Given the description of an element on the screen output the (x, y) to click on. 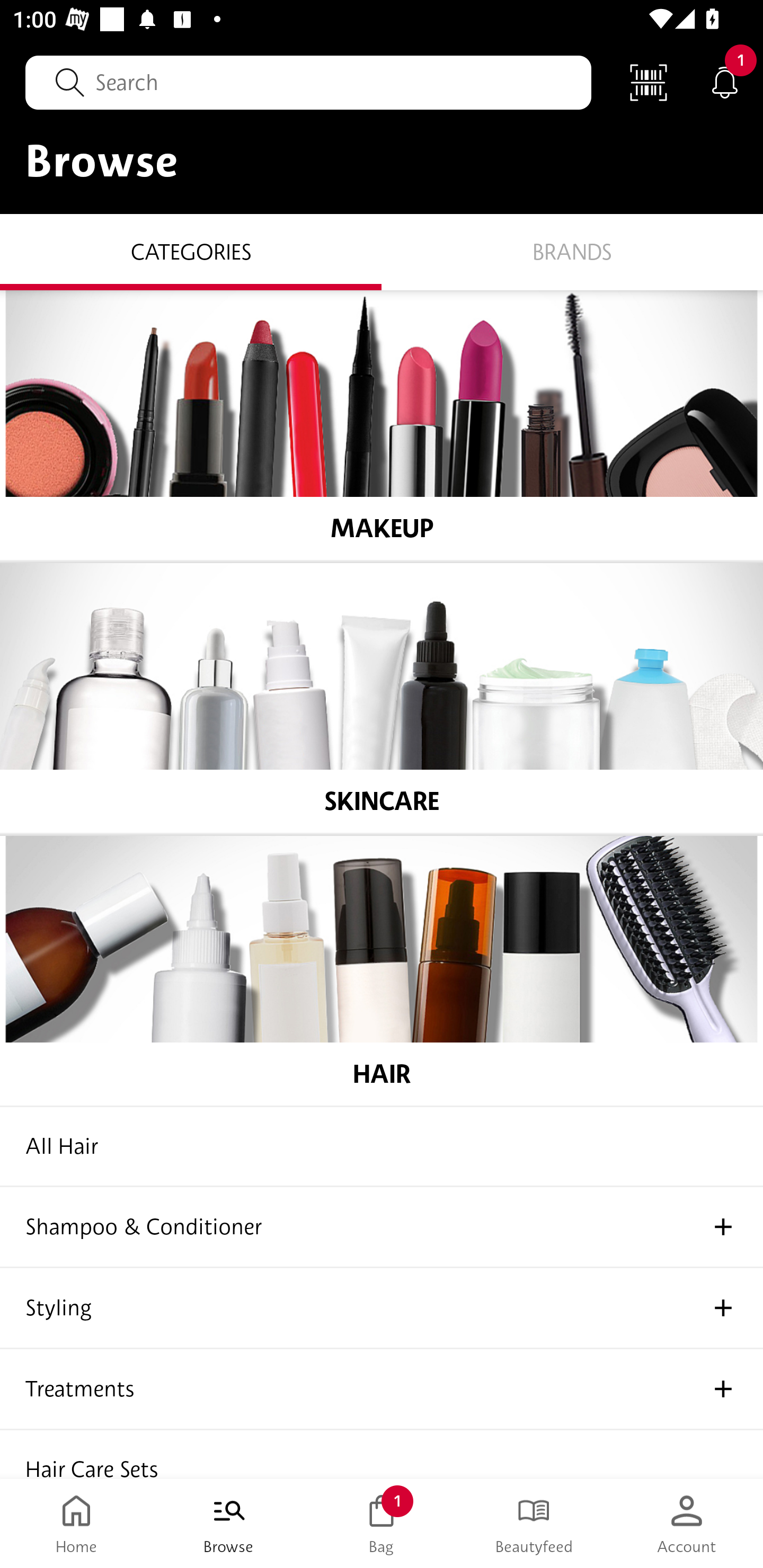
Scan Code (648, 81)
Notifications (724, 81)
Search (308, 81)
Brands BRANDS (572, 251)
MAKEUP (381, 425)
SKINCARE (381, 698)
All Hair (381, 1146)
Shampoo & Conditioner (381, 1227)
Styling (381, 1308)
Treatments (381, 1389)
Hair Care Sets (381, 1454)
Home (76, 1523)
Bag 1 Bag (381, 1523)
Beautyfeed (533, 1523)
Account (686, 1523)
